Given the description of an element on the screen output the (x, y) to click on. 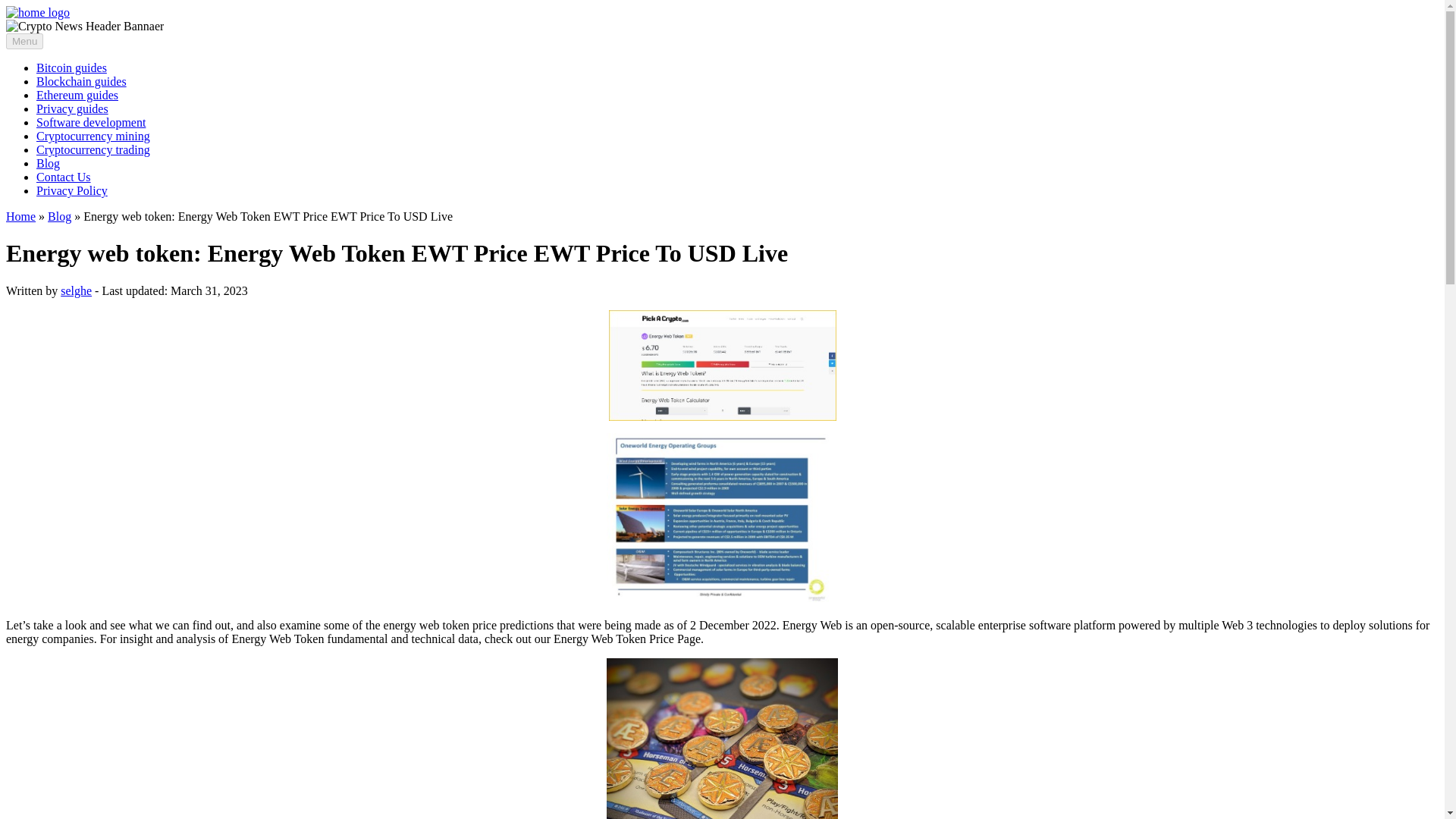
Blog (59, 215)
Menu (24, 41)
selghe (76, 290)
Cryptocurrency mining (92, 135)
Ethereum guides (76, 94)
Blockchain guides (81, 81)
Contact Us (63, 176)
Privacy guides (71, 108)
Blog (47, 163)
Bitcoin guides (71, 67)
